Given the description of an element on the screen output the (x, y) to click on. 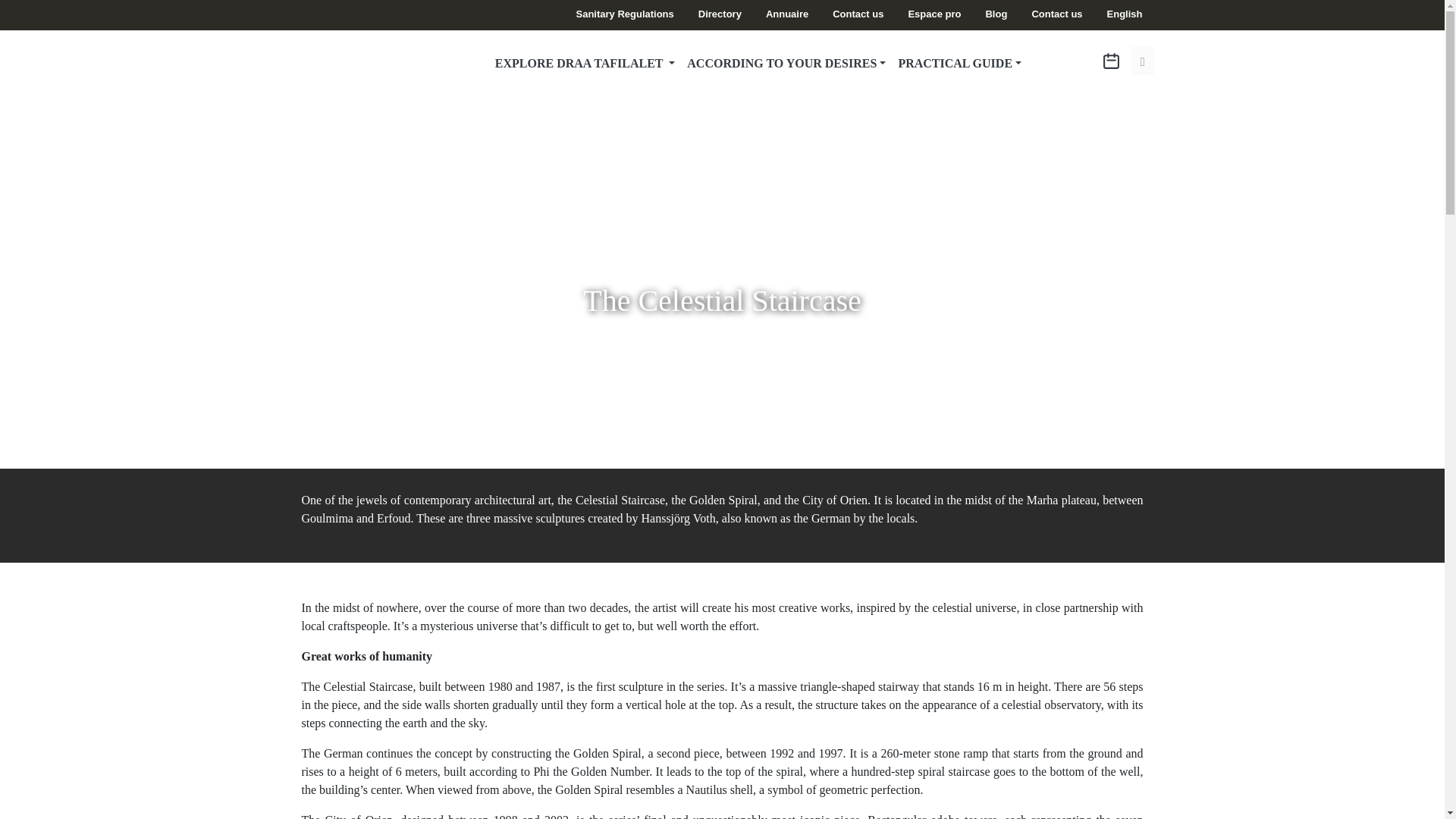
English (1124, 14)
Contact us (857, 13)
Blog (996, 13)
Espace pro (933, 13)
Directory (719, 13)
Sanitary Regulations (623, 13)
English (1124, 14)
EXPLORE DRAA TAFILALET (585, 63)
Contact us (1055, 13)
ACCORDING TO YOUR DESIRES (786, 63)
Annuaire (786, 13)
